Given the description of an element on the screen output the (x, y) to click on. 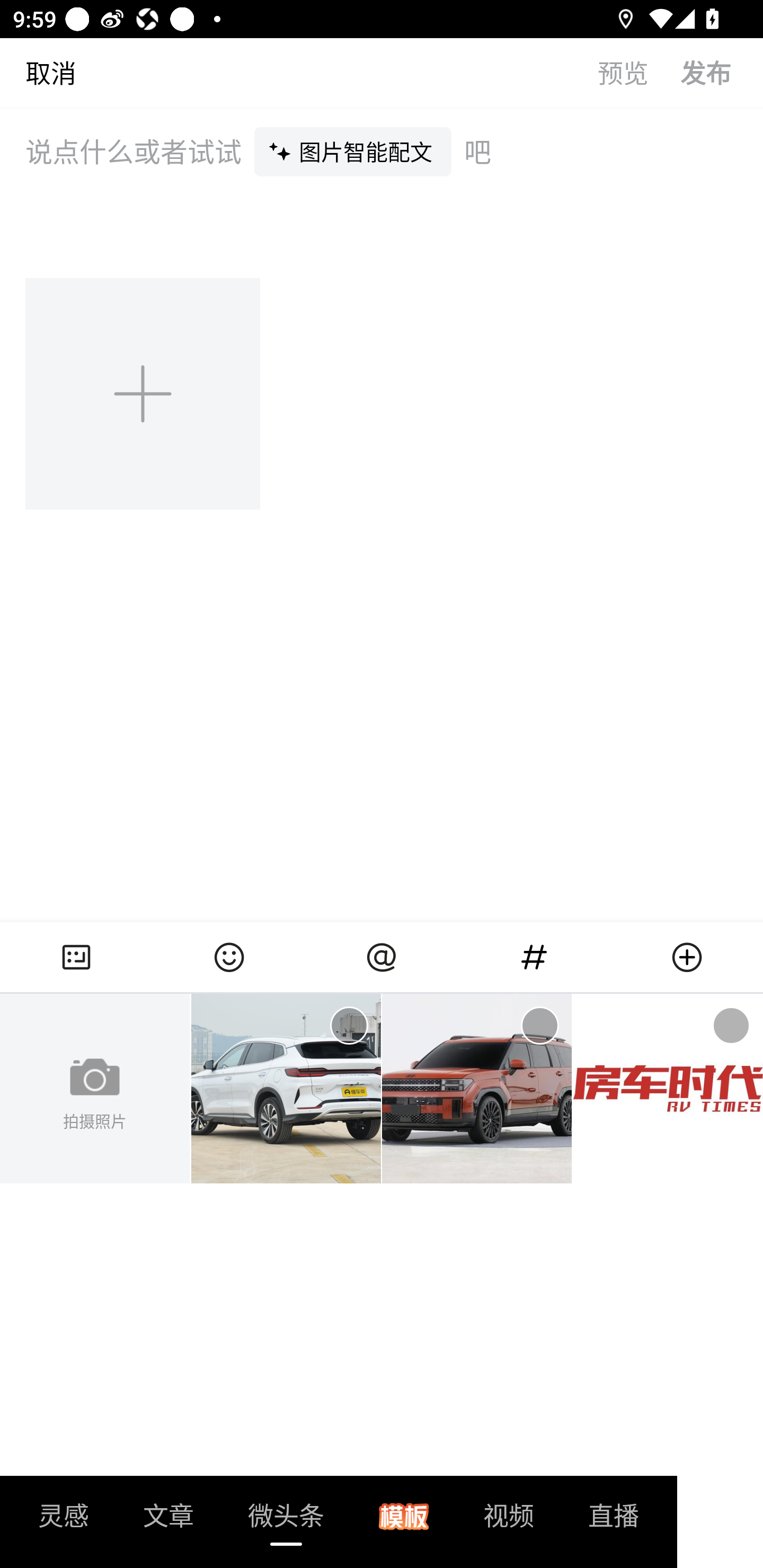
取消 (38, 71)
预览 (638, 71)
发布 (721, 71)
图片智能配文 (352, 151)
添加图片 (144, 393)
相册 (76, 956)
表情 (228, 956)
at (381, 956)
话题 (533, 956)
更多 (686, 956)
拍摄照片 (94, 1088)
图片1 (285, 1088)
未选中 (348, 1025)
图片2 (476, 1088)
未选中 (539, 1025)
图片3 (668, 1088)
未选中 (731, 1025)
灵感 (63, 1521)
文章 (168, 1521)
微头条 (285, 1521)
视频 (508, 1521)
直播 (613, 1521)
